Given the description of an element on the screen output the (x, y) to click on. 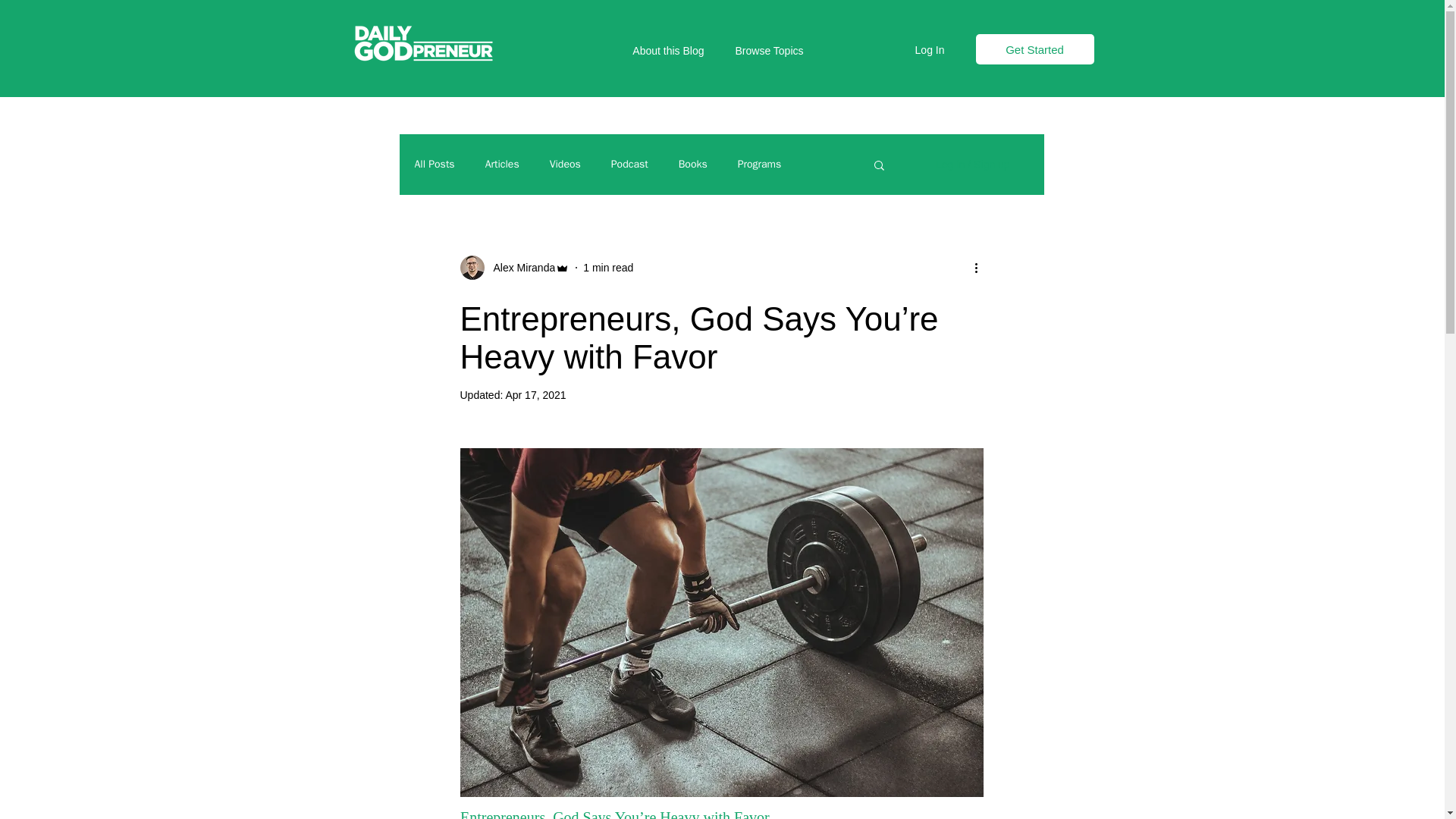
1 min read (608, 266)
Alex Miranda (518, 267)
All Posts (433, 164)
Videos (565, 164)
Log In (929, 50)
Articles (501, 164)
Apr 17, 2021 (535, 395)
About this Blog (661, 50)
Get Started (1034, 49)
Programs (759, 164)
